Given the description of an element on the screen output the (x, y) to click on. 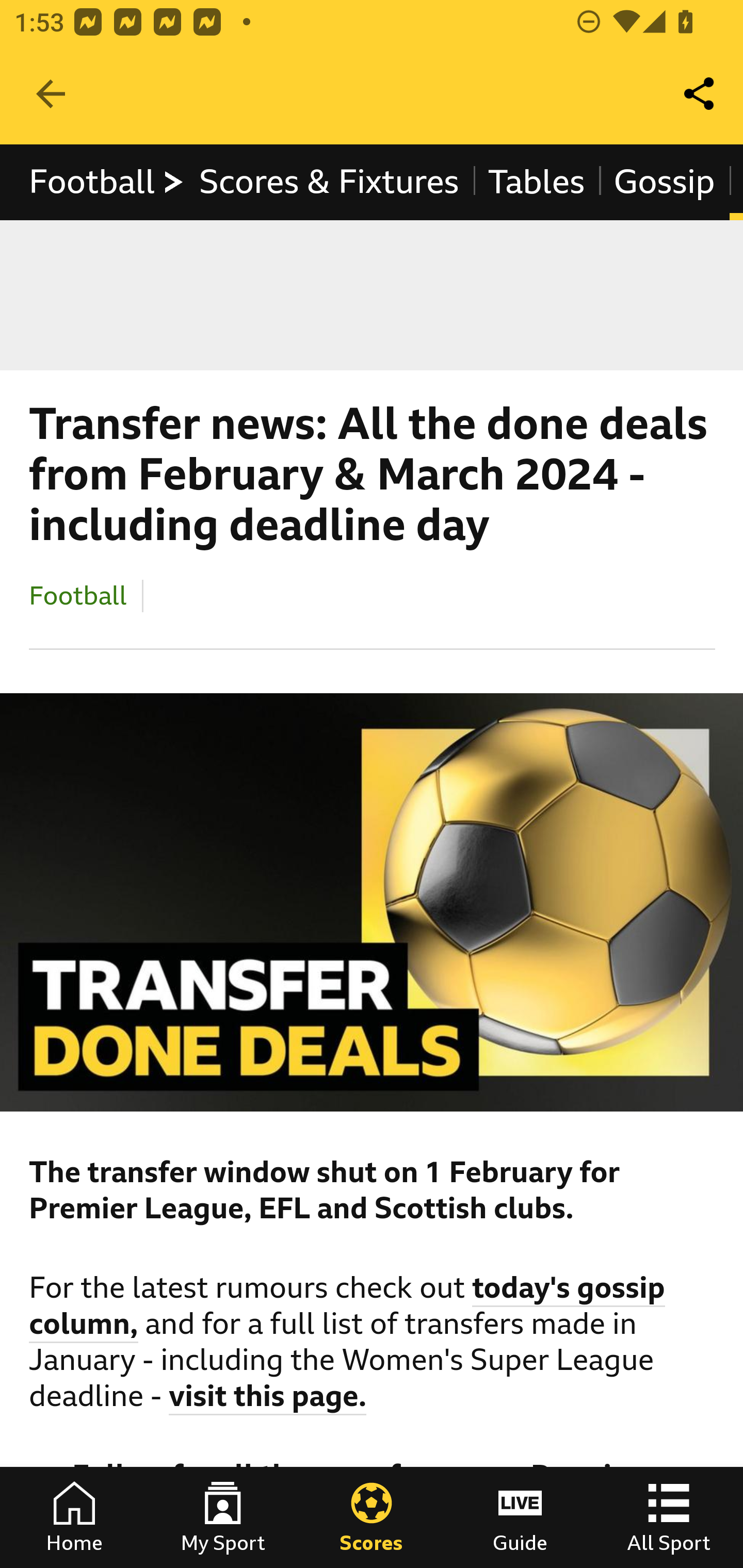
Navigate up (50, 93)
Share (699, 93)
Football  (106, 181)
Scores & Fixtures (329, 181)
Tables (536, 181)
Gossip (664, 181)
Football (77, 594)
today's gossip column, (347, 1307)
visit this page. (267, 1398)
Home (74, 1517)
My Sport (222, 1517)
Guide (519, 1517)
All Sport (668, 1517)
